Given the description of an element on the screen output the (x, y) to click on. 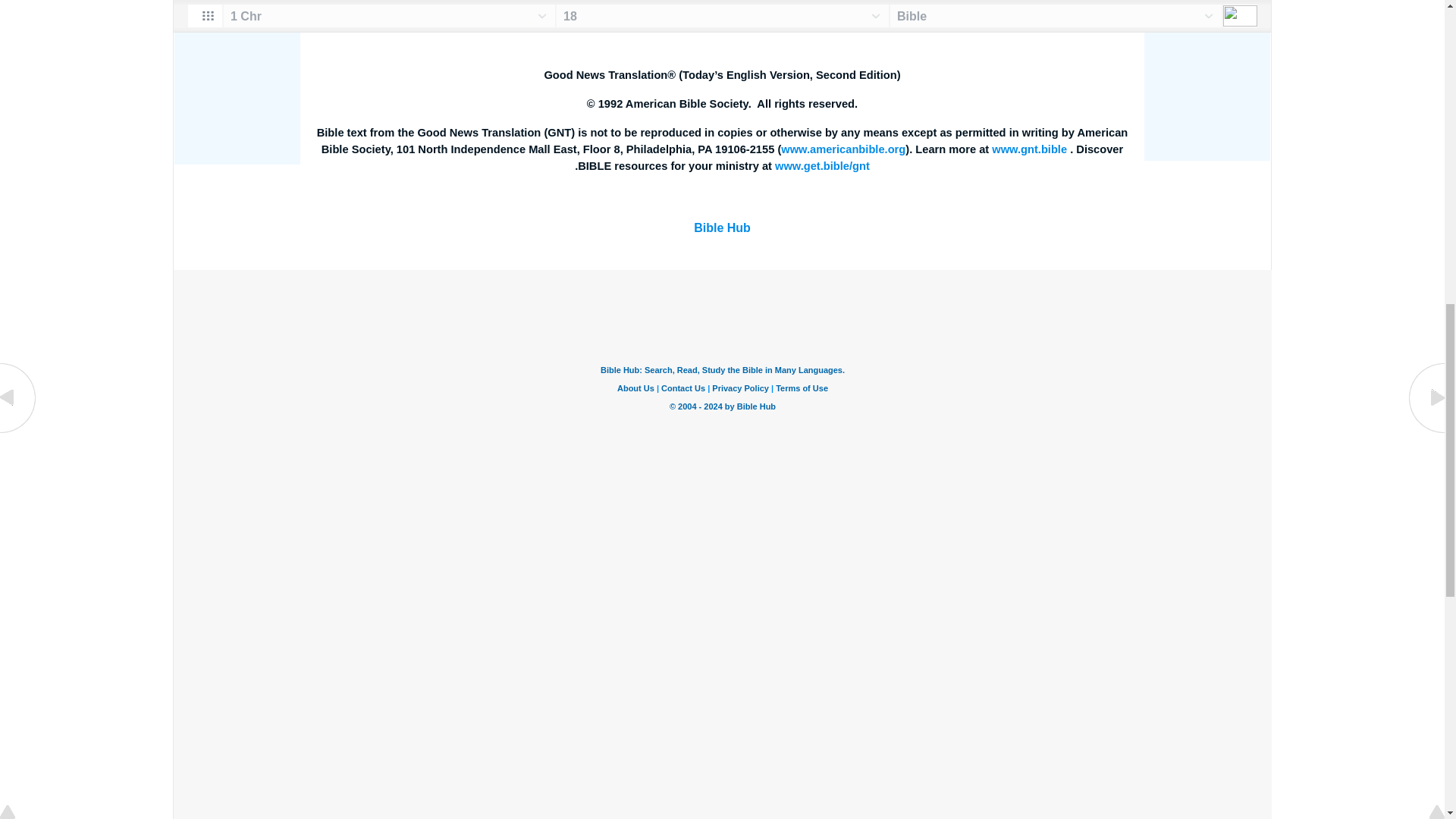
Top of Page (18, 1)
Bible Hub (722, 227)
www.gnt.bible (1029, 149)
www.americanbible.org (842, 149)
